Given the description of an element on the screen output the (x, y) to click on. 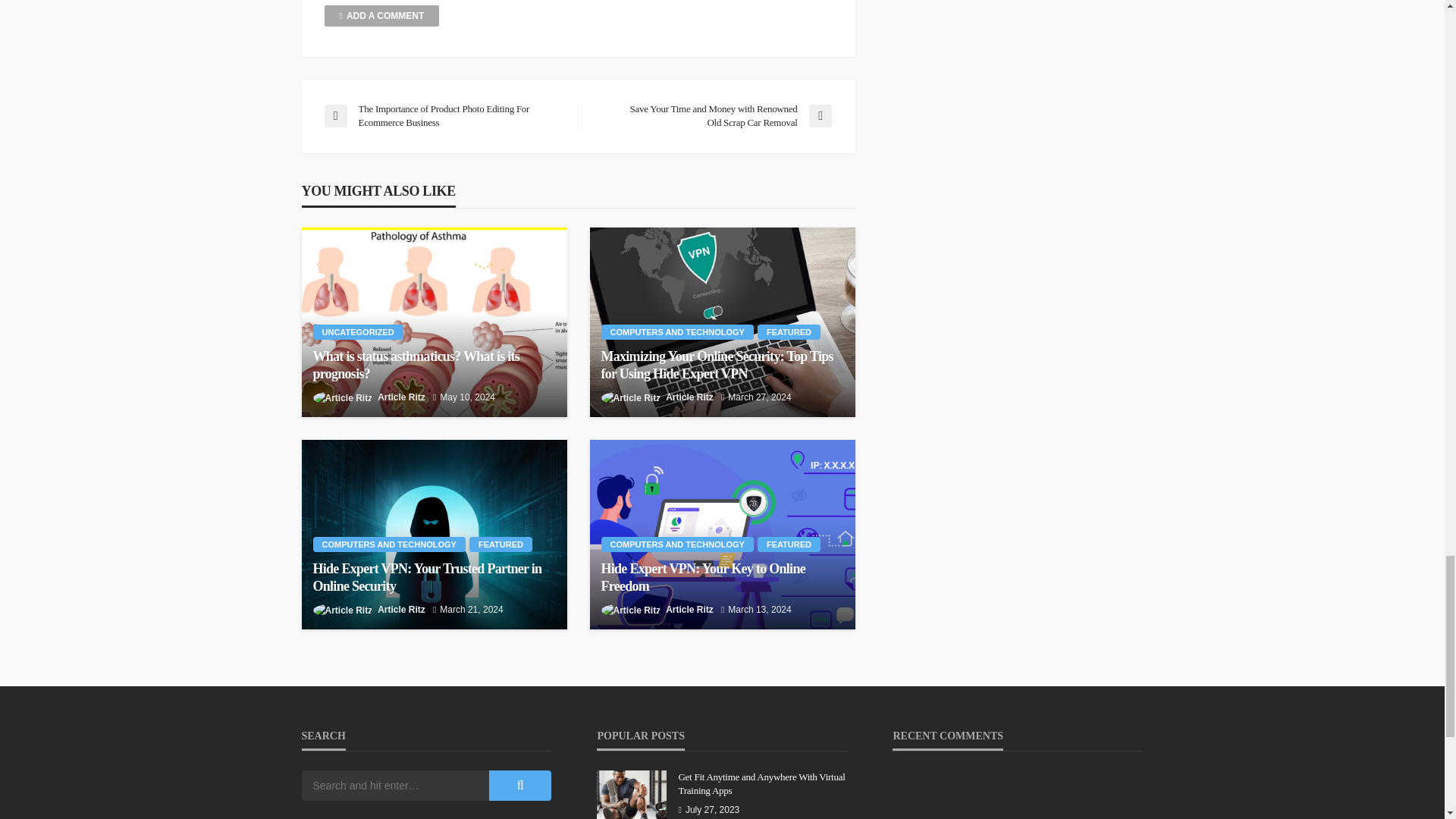
What is status asthmaticus? What is its prognosis? (434, 321)
Save Your Time and Money with Renowned Old Scrap Car Removal (711, 115)
